Given the description of an element on the screen output the (x, y) to click on. 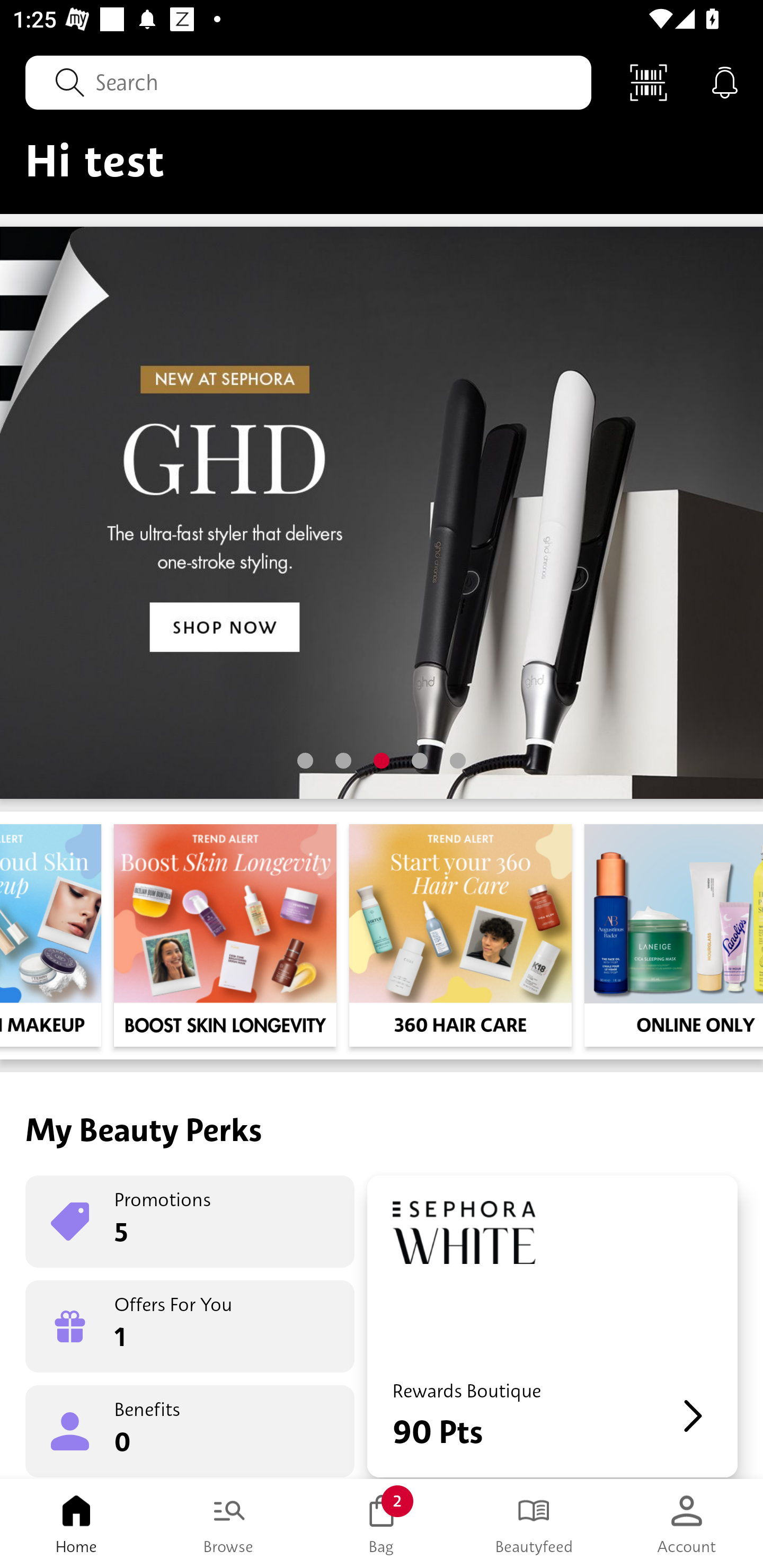
Scan Code (648, 81)
Notifications (724, 81)
Search (308, 81)
Promotions 5 (189, 1221)
Rewards Boutique 90 Pts (552, 1326)
Offers For You 1 (189, 1326)
Benefits 0 (189, 1430)
Browse (228, 1523)
Bag 2 Bag (381, 1523)
Beautyfeed (533, 1523)
Account (686, 1523)
